Given the description of an element on the screen output the (x, y) to click on. 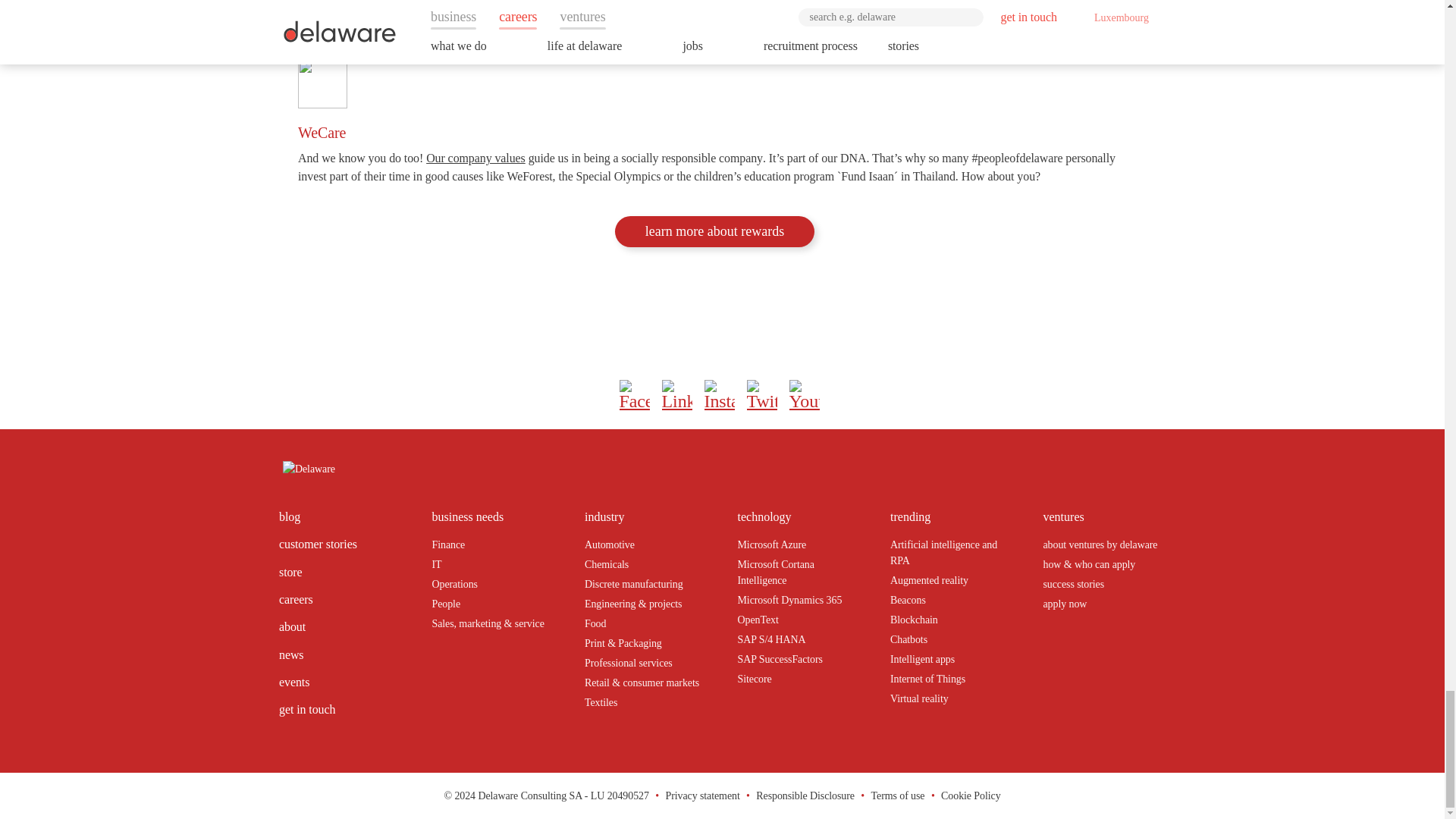
delaware (308, 467)
